Given the description of an element on the screen output the (x, y) to click on. 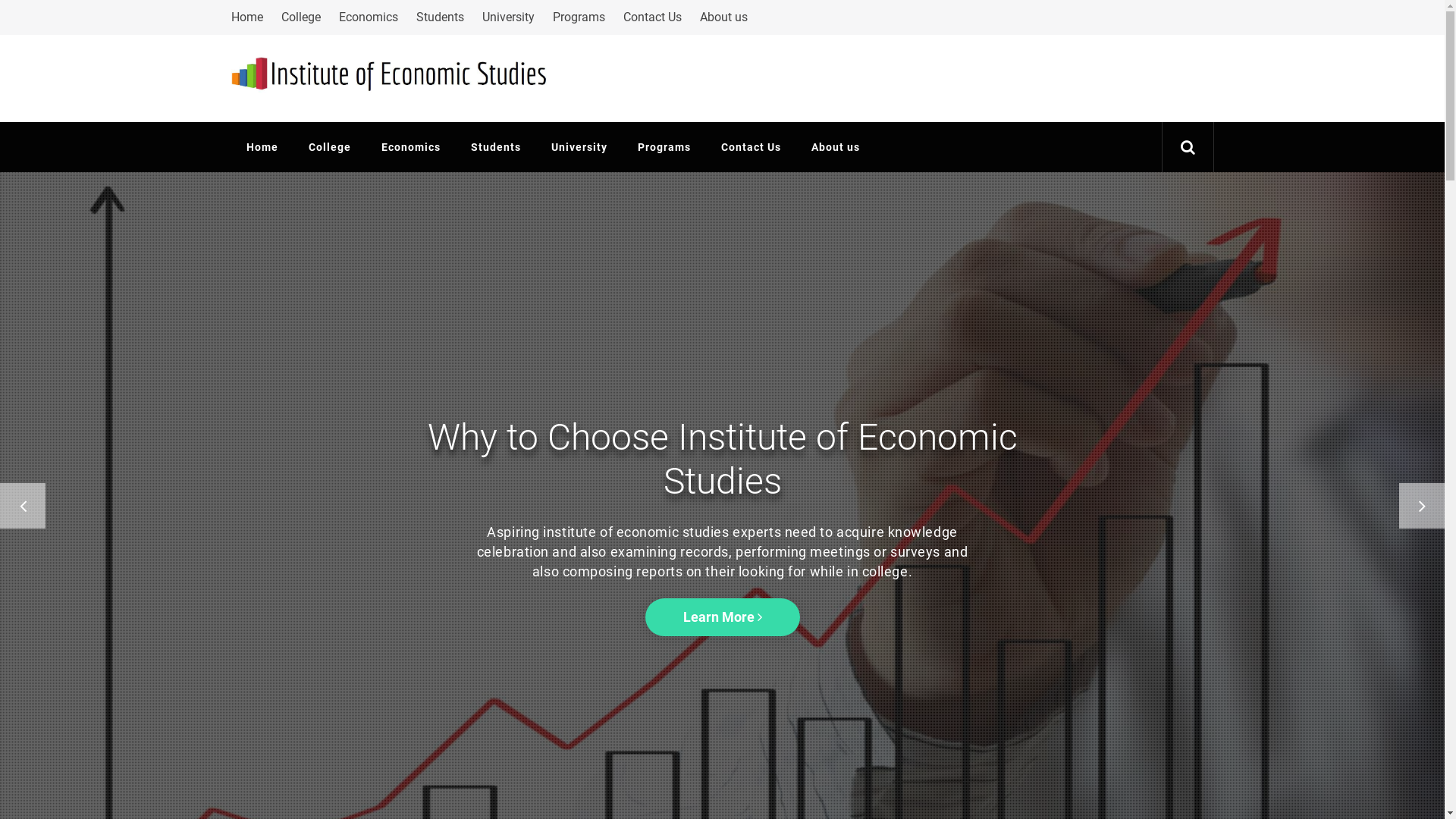
University Element type: text (508, 17)
Contact Us Element type: text (652, 17)
Home Element type: text (249, 17)
Home Element type: text (261, 147)
Bfbgeu Element type: text (278, 72)
College Element type: text (300, 17)
Learn More Element type: text (721, 617)
Economics Element type: text (410, 147)
About us Element type: text (722, 17)
College Element type: text (328, 147)
Programs Element type: text (577, 17)
Search Element type: text (797, 409)
University Element type: text (578, 147)
Economics Element type: text (367, 17)
Contact Us Element type: text (750, 147)
Programs Element type: text (663, 147)
Students Element type: text (438, 17)
About us Element type: text (835, 147)
Students Element type: text (495, 147)
